Given the description of an element on the screen output the (x, y) to click on. 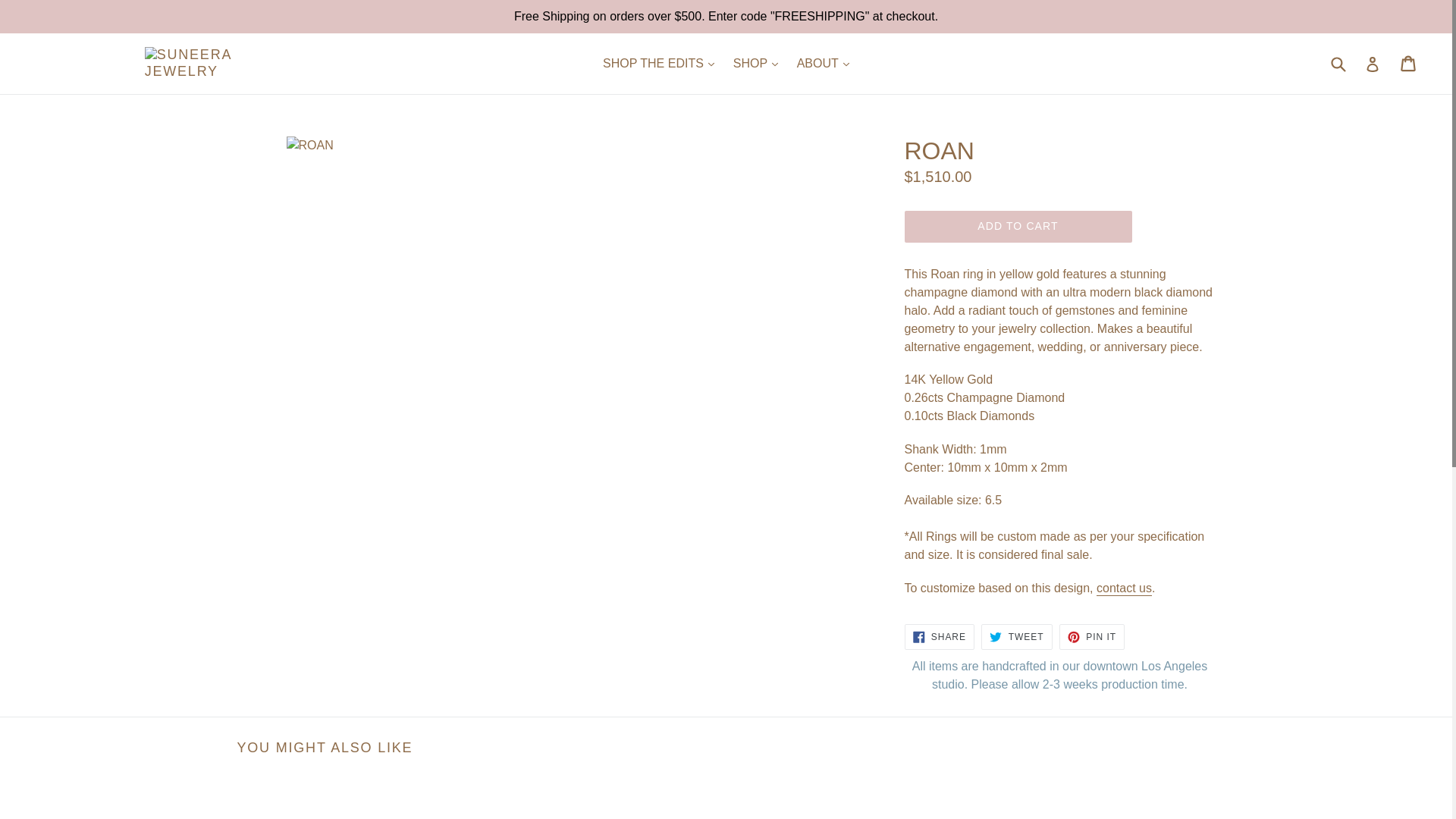
Share on Facebook (939, 637)
Tweet on Twitter (1016, 637)
Pin on Pinterest (1091, 637)
